Given the description of an element on the screen output the (x, y) to click on. 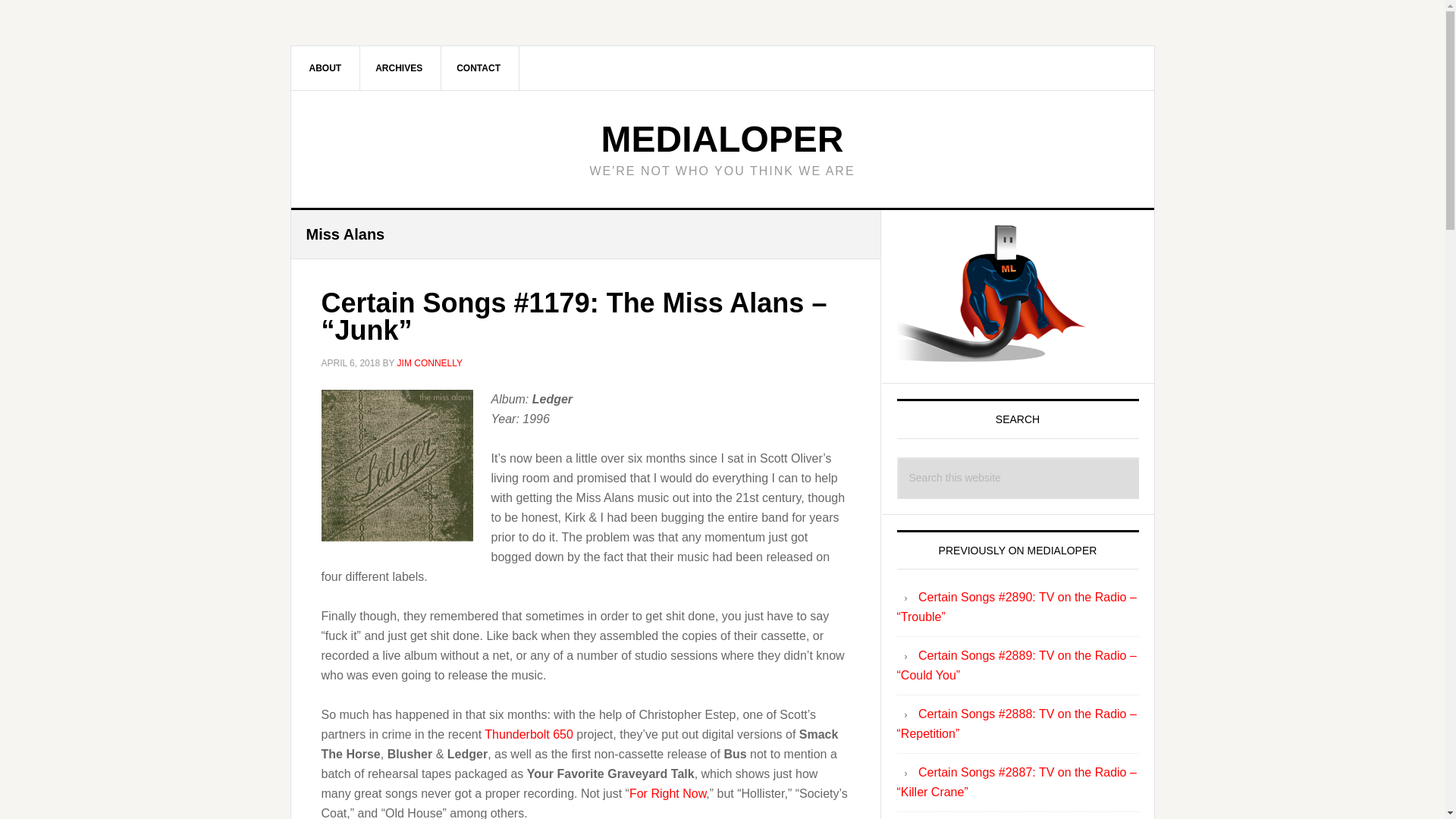
Thunderbolt 650 (528, 734)
ARCHIVES (398, 67)
CONTACT (478, 67)
JIM CONNELLY (430, 362)
MEDIALOPER (721, 138)
For Right Now (667, 793)
ABOUT (326, 67)
